Given the description of an element on the screen output the (x, y) to click on. 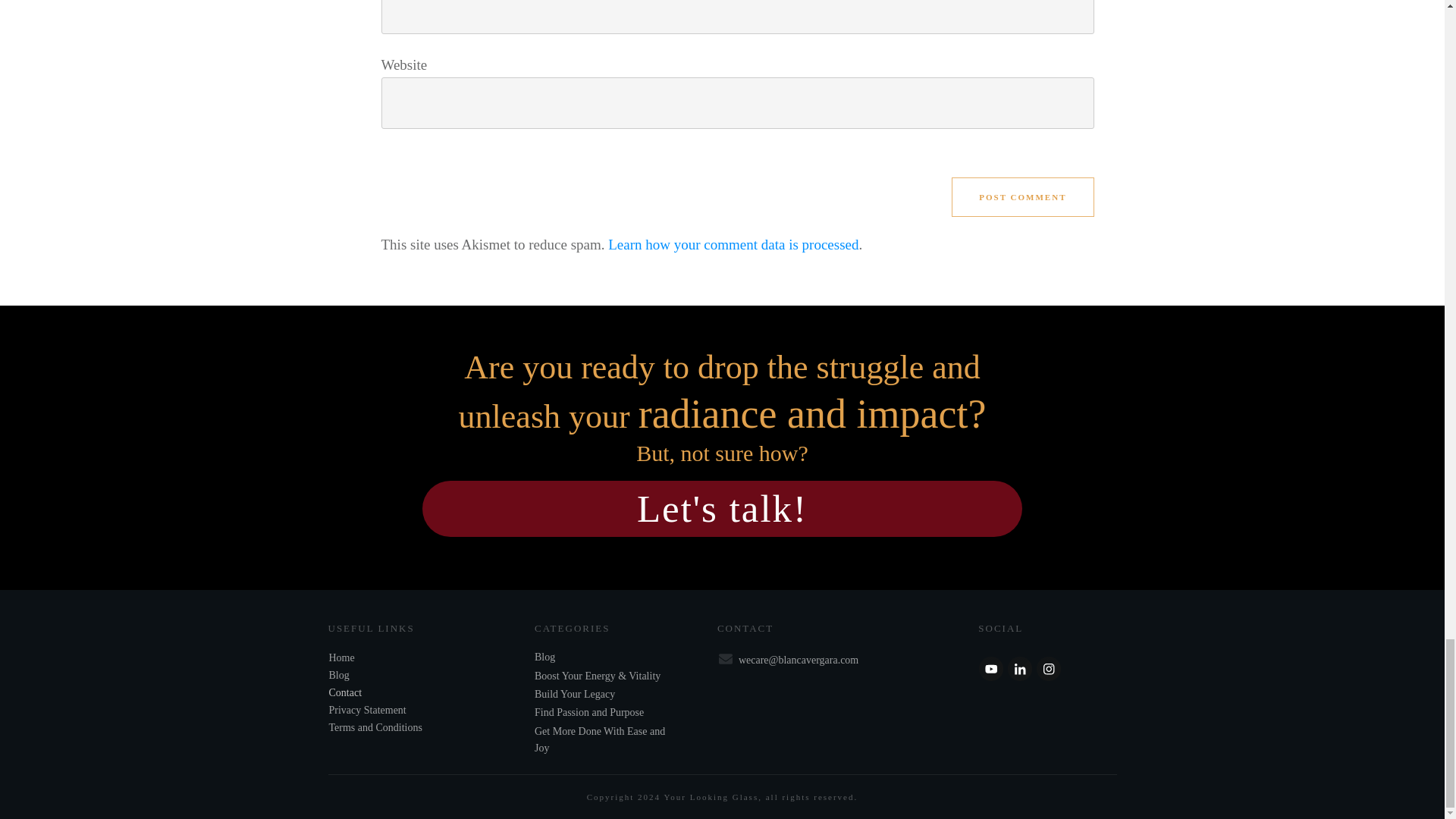
Blog (339, 674)
Home (342, 657)
Learn how your comment data is processed (733, 244)
Contact (345, 692)
Privacy Statement (367, 709)
Terms and Conditions (375, 727)
Find Passion and Purpose (588, 712)
Let's talk! (722, 508)
Build Your Legacy (574, 694)
Blog (544, 657)
